Given the description of an element on the screen output the (x, y) to click on. 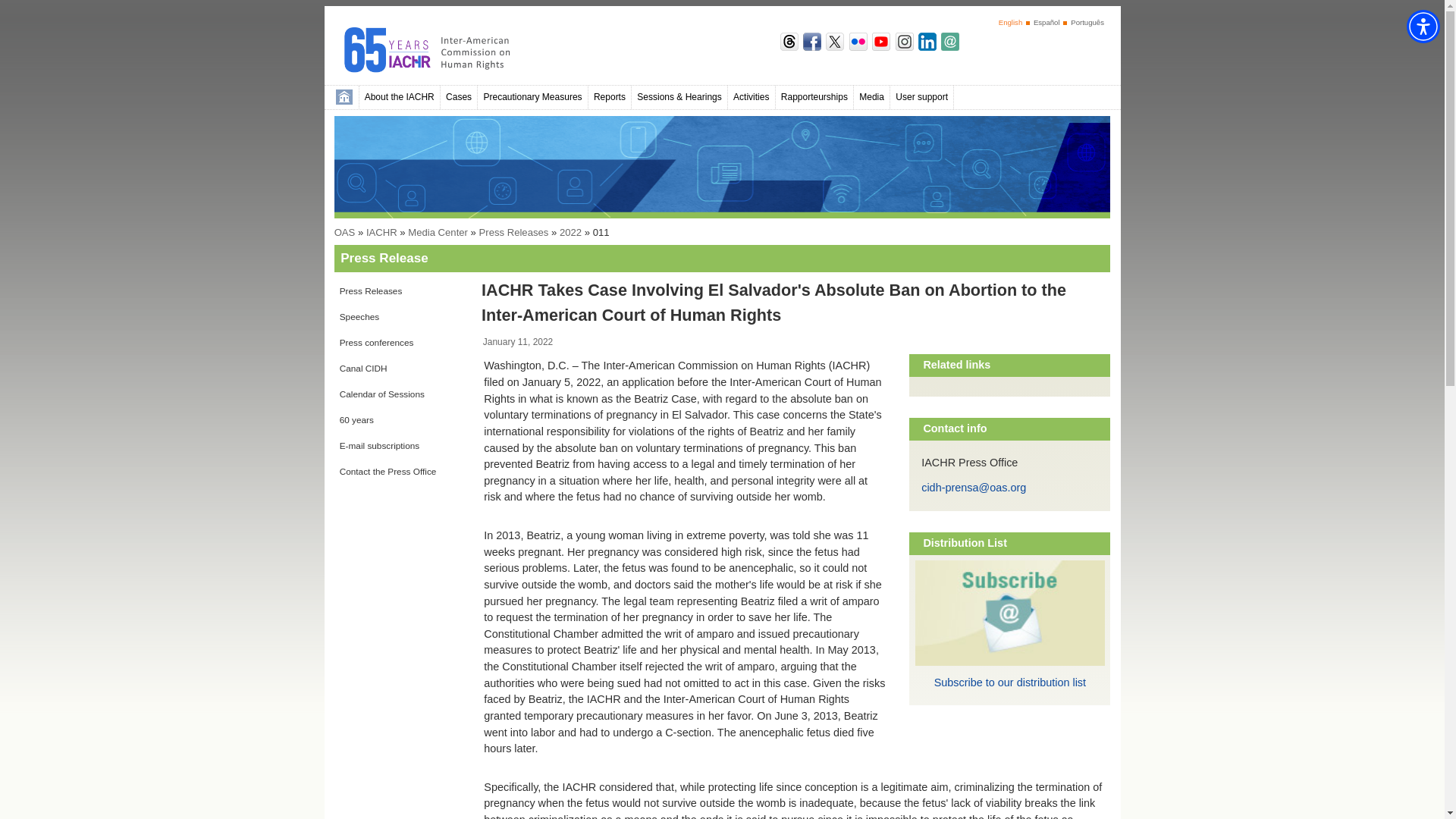
Subscribe to our distribution list (949, 46)
About the IACHR (400, 96)
flickr (857, 46)
X (834, 46)
Accessibility Menu (1422, 26)
Inter-American Commission on Human Rights (444, 49)
Cases (459, 96)
Threads (788, 46)
Linkedin (927, 46)
Facebook (812, 46)
Instagram (904, 46)
youtube (880, 46)
